Given the description of an element on the screen output the (x, y) to click on. 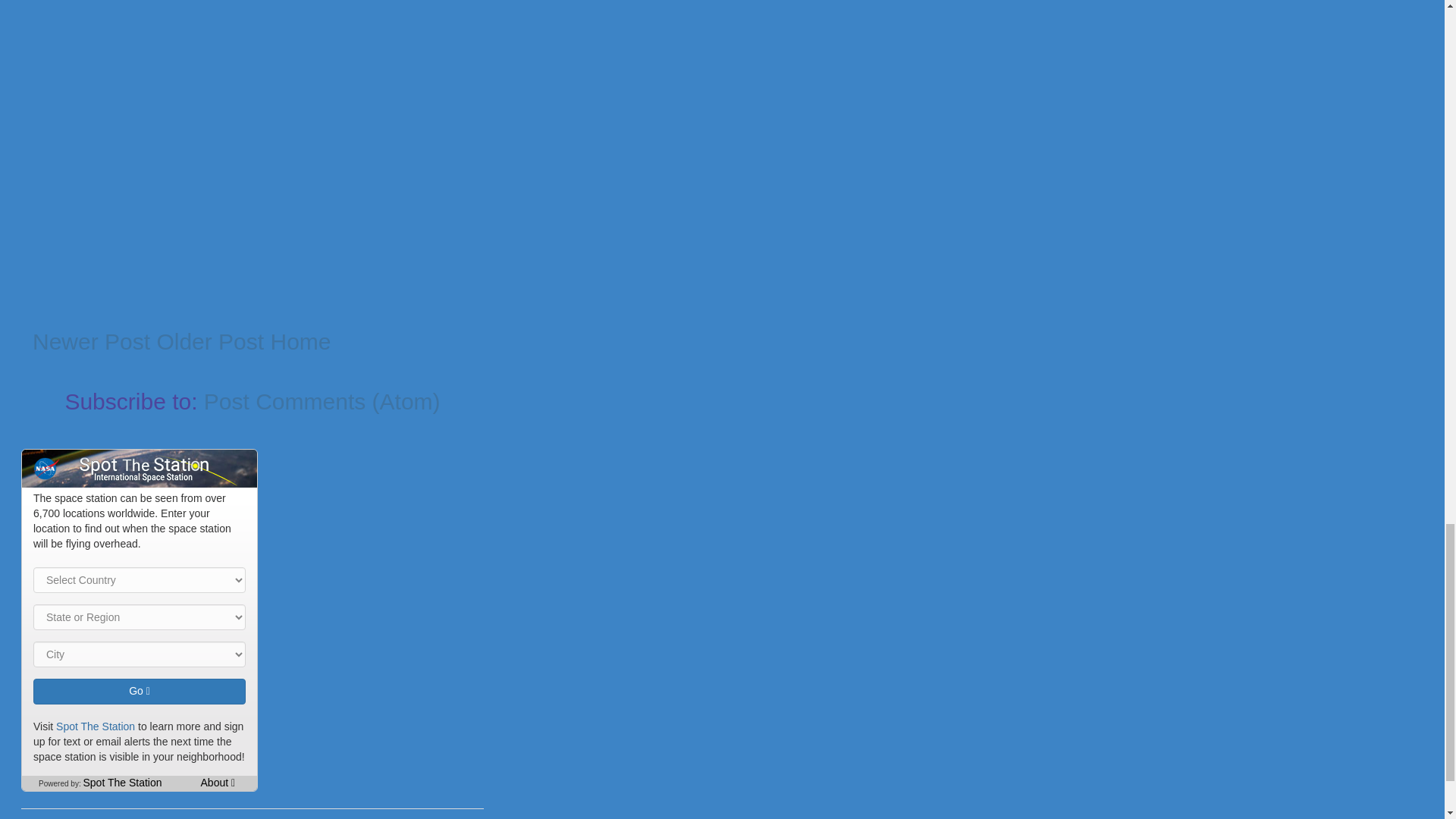
Newer Post (90, 341)
Newer Post (90, 341)
Home (299, 341)
Older Post (209, 341)
Older Post (209, 341)
